Given the description of an element on the screen output the (x, y) to click on. 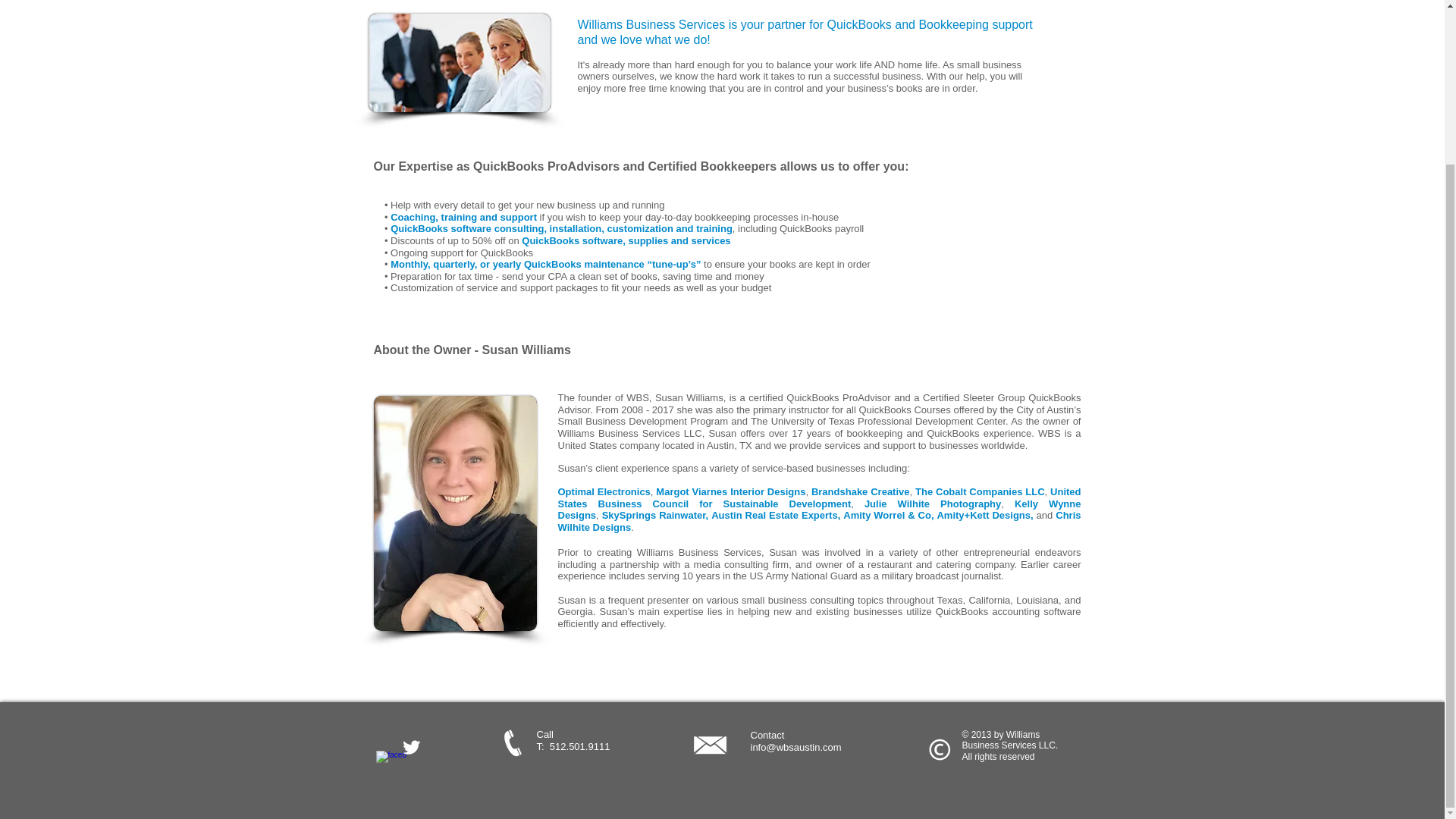
The Cobalt Companies LLC (980, 491)
Susan Williams - Owner of Williams Business Services LLC (453, 512)
United States Business Council for Sustainable Development (819, 497)
Austin Real Estate Experts (774, 514)
Julie Wilhite Photography (932, 503)
Kelly Wynne Designs (819, 509)
Brandshake Creative (860, 491)
SkySprings Rainwater (654, 514)
Send e-mail to Williams Business Services LLC (708, 744)
QuickBooks software, supplies and services (625, 240)
Coaching, training and support (463, 216)
Chris Wilhite Designs (819, 521)
Call Williams Business Services LLC (512, 742)
Optimal Electronics (603, 491)
